Given the description of an element on the screen output the (x, y) to click on. 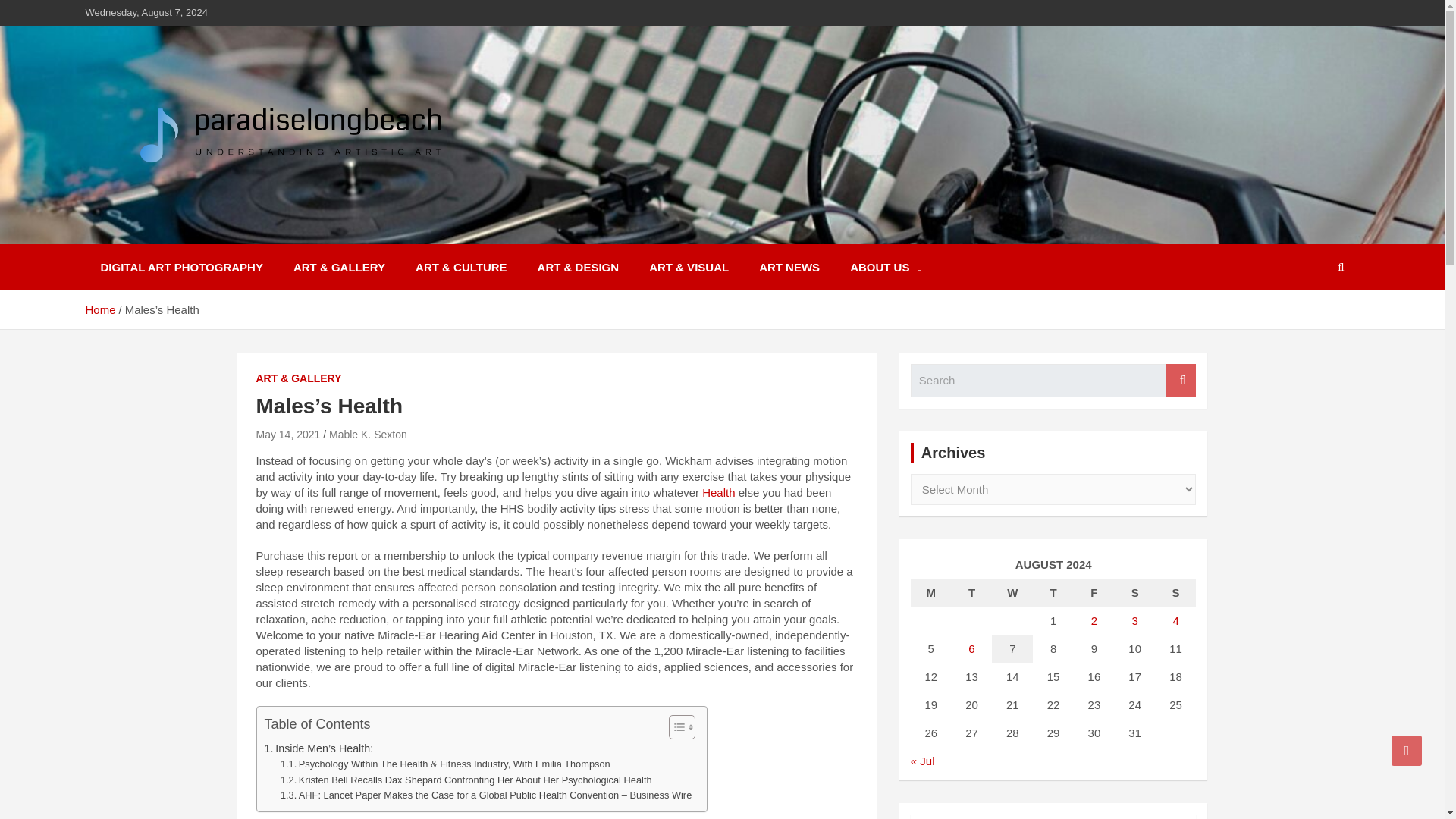
Saturday (1135, 592)
Thursday (1053, 592)
Monday (931, 592)
Home (99, 309)
Friday (1094, 592)
Tuesday (972, 592)
Health (718, 492)
May 14, 2021 (288, 434)
ART NEWS (789, 267)
DIGITAL ART PHOTOGRAPHY (181, 267)
ABOUT US (885, 267)
Mable K. Sexton (368, 434)
Sunday (1176, 592)
Paradiselongbeach (223, 233)
